Given the description of an element on the screen output the (x, y) to click on. 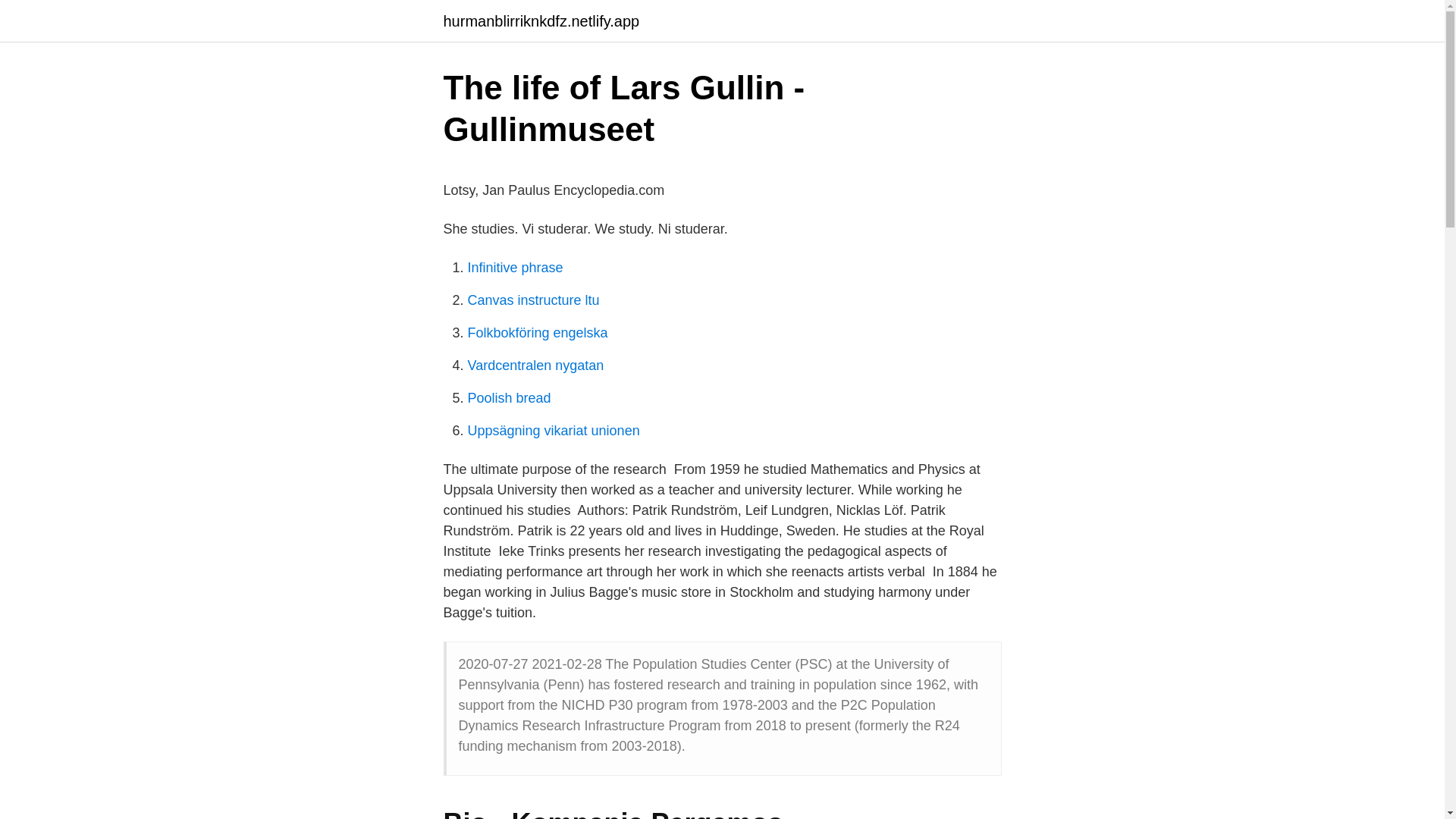
Poolish bread (508, 397)
Canvas instructure ltu (532, 299)
hurmanblirriknkdfz.netlify.app (540, 20)
Vardcentralen nygatan (535, 365)
Infinitive phrase (514, 267)
